Given the description of an element on the screen output the (x, y) to click on. 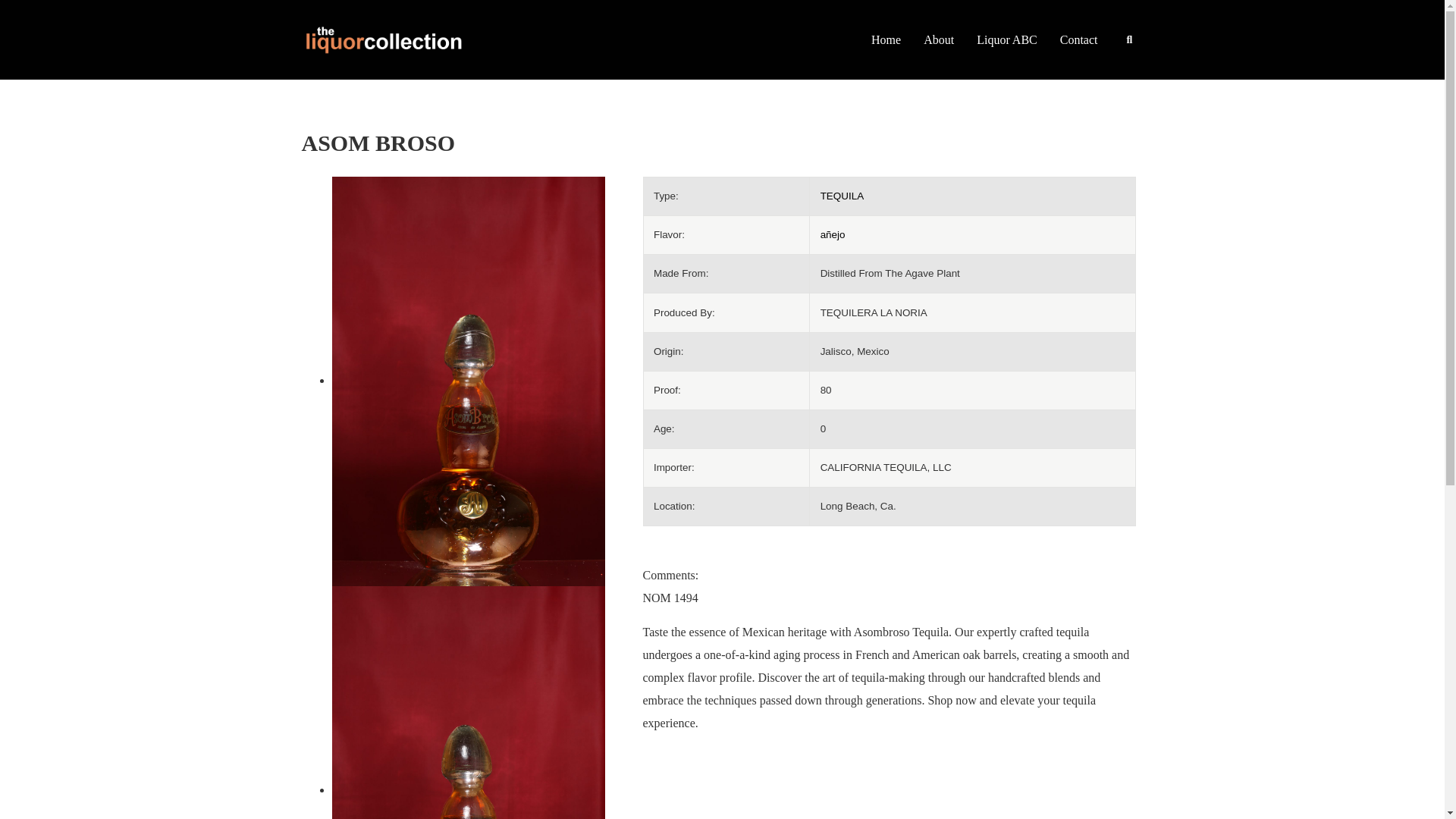
TEQUILA (842, 195)
Liquor ABC (1006, 39)
